Given the description of an element on the screen output the (x, y) to click on. 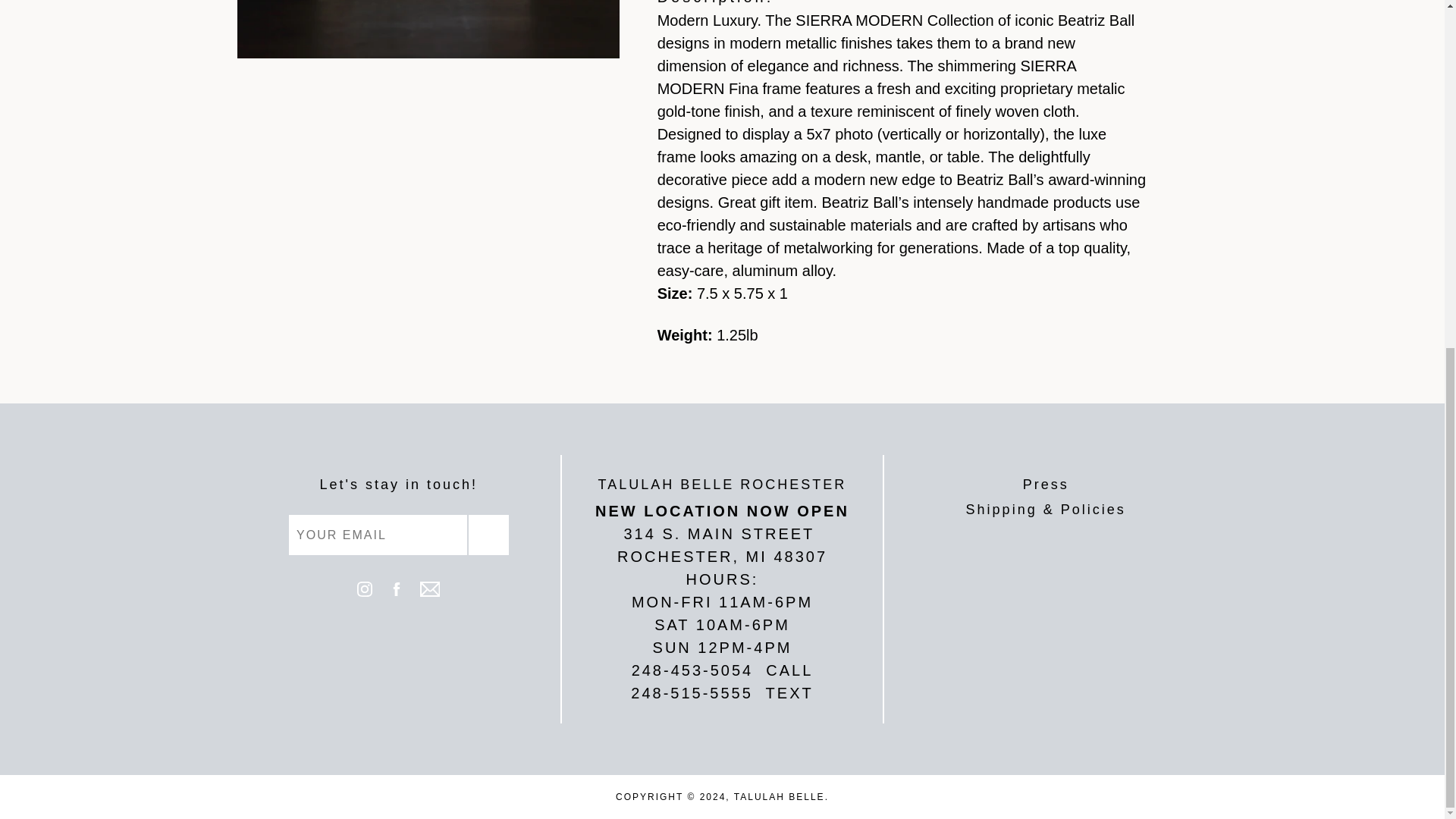
Email (429, 592)
Talulah Belle on Instagram (364, 592)
Talulah Belle on Facebook (396, 592)
email-icon (429, 589)
